Given the description of an element on the screen output the (x, y) to click on. 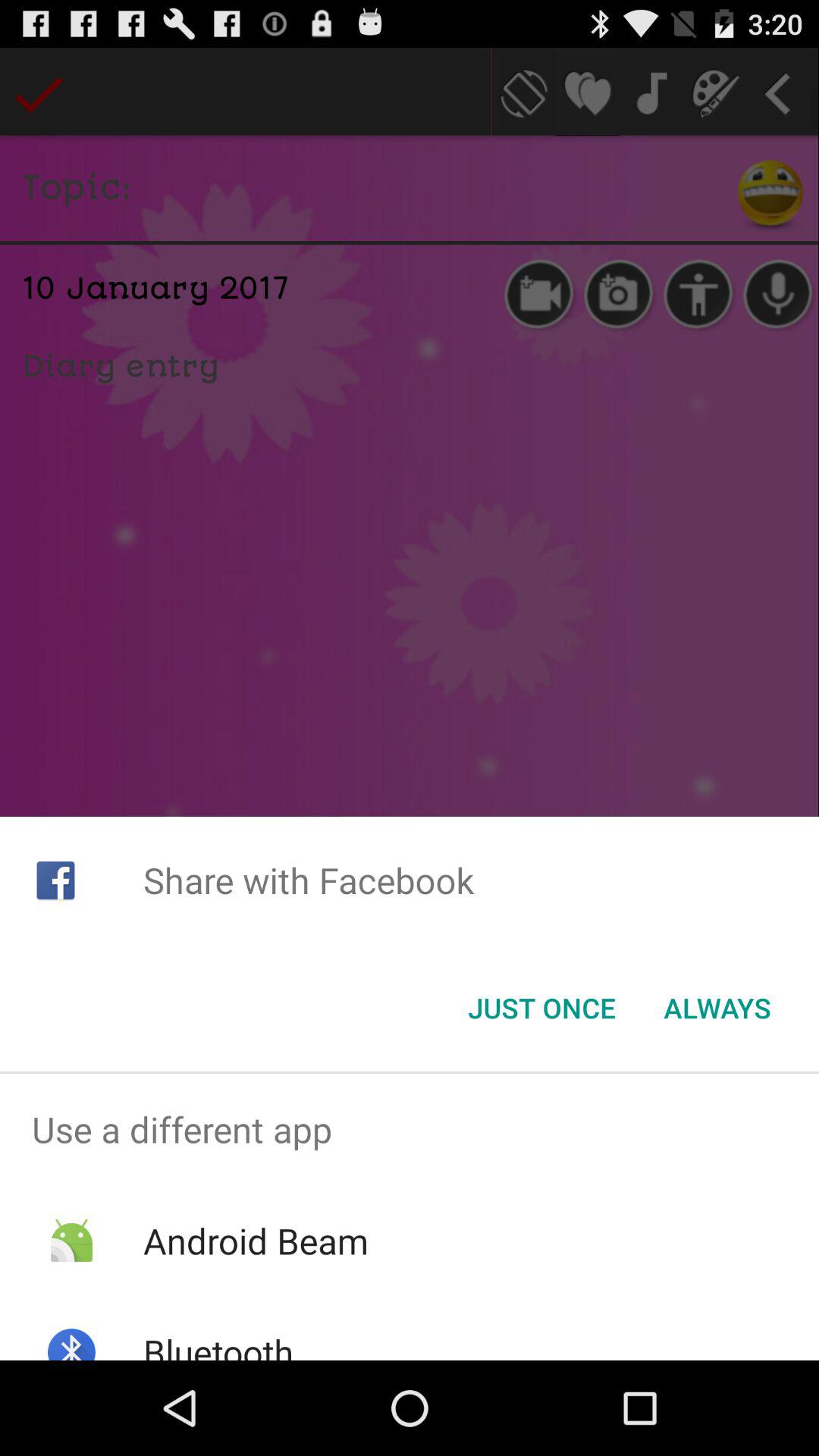
choose the just once item (541, 1007)
